Given the description of an element on the screen output the (x, y) to click on. 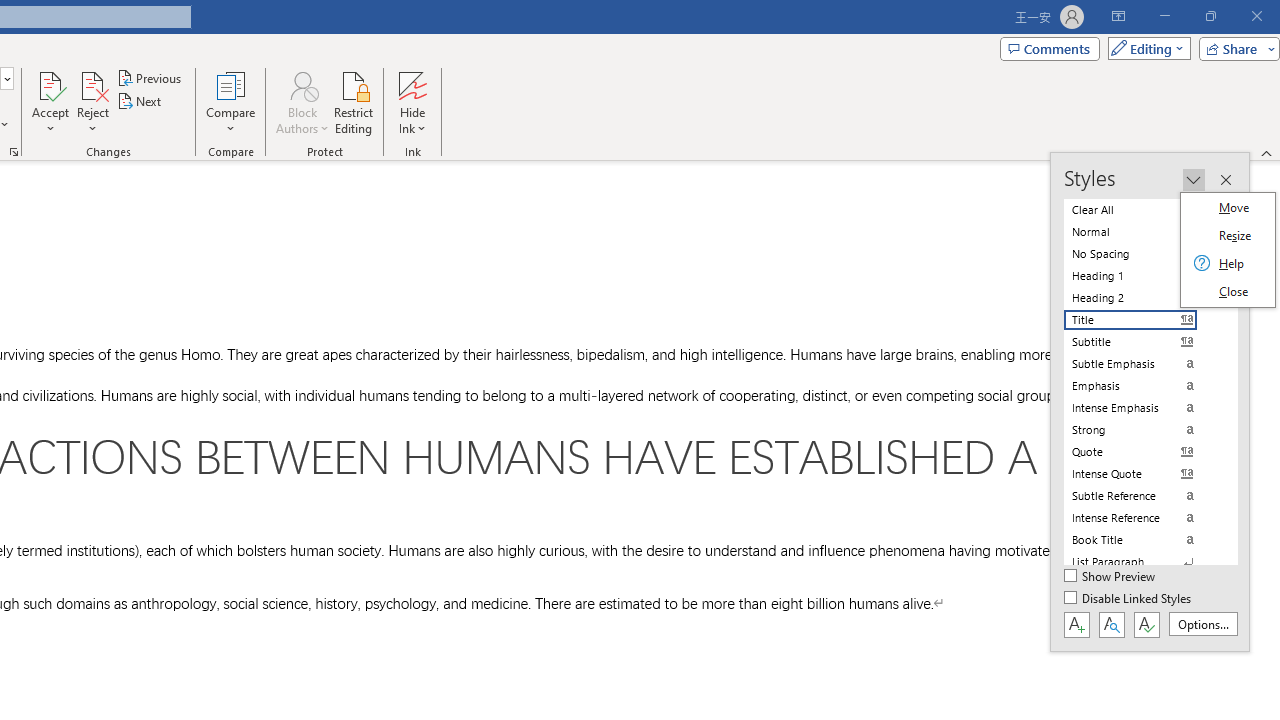
Intense Emphasis (1142, 407)
Subtle Reference (1142, 495)
Intense Reference (1142, 517)
Show Preview (1110, 577)
Strong (1142, 429)
Accept and Move to Next (50, 84)
Disable Linked Styles (1129, 599)
Accept (50, 102)
Hide Ink (412, 84)
List Paragraph (1142, 561)
Block Authors (302, 102)
Options... (1202, 623)
